Given the description of an element on the screen output the (x, y) to click on. 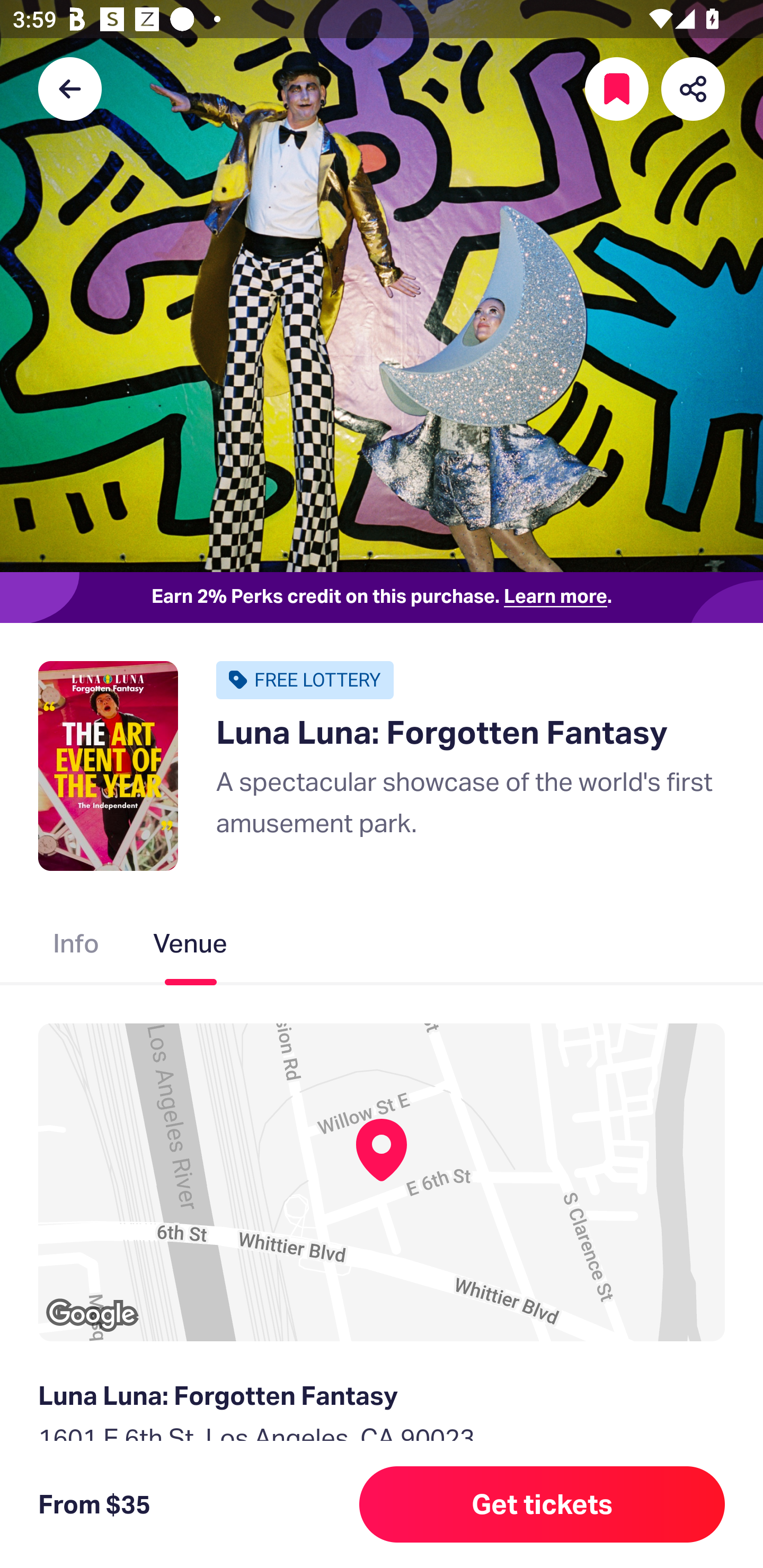
Earn 2% Perks credit on this purchase. Learn more. (381, 597)
Info (76, 946)
Google Map Luna Luna: Forgotten Fantasy.  (381, 1181)
Get tickets (541, 1504)
Get directions (381, 1530)
